Given the description of an element on the screen output the (x, y) to click on. 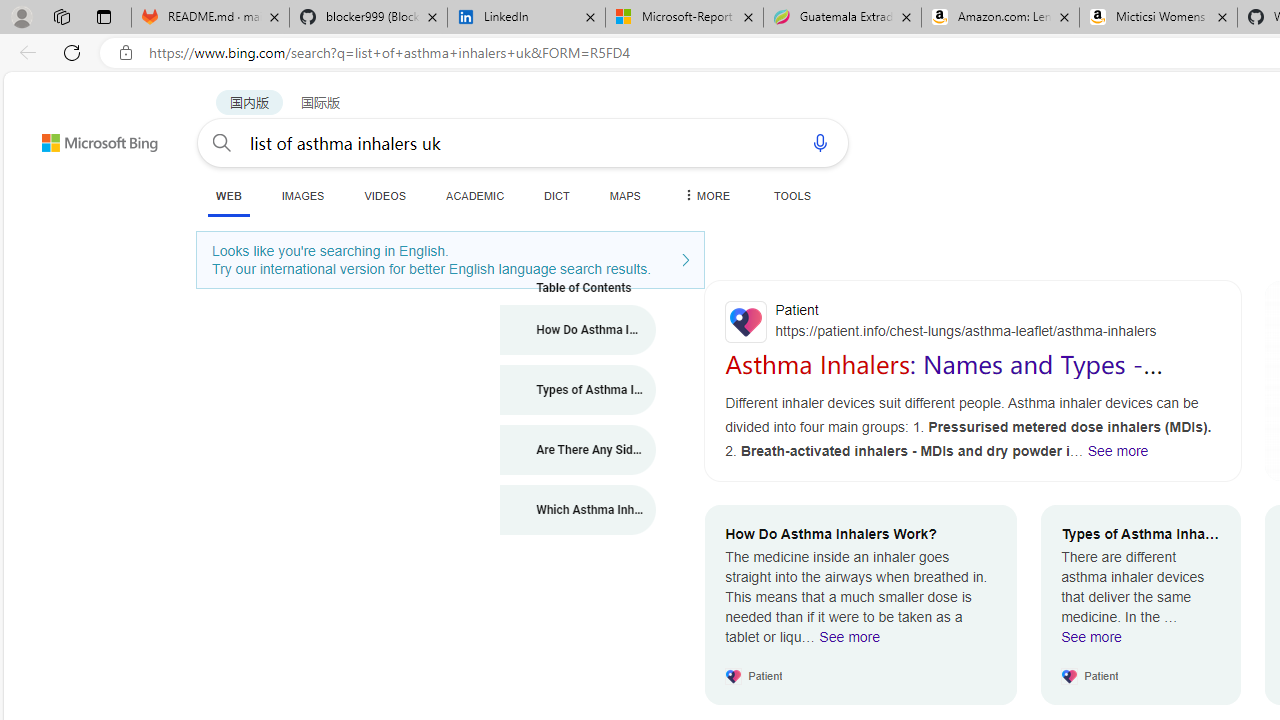
Are There Any Side-Effects from Asthma Inhalers? (578, 449)
DICT (557, 195)
How Do Asthma Inhalers Work? (578, 329)
WEB (228, 196)
Dropdown Menu (705, 195)
IMAGES (302, 195)
MAPS (624, 195)
Which Asthma Inhaler Device Should I use? (578, 509)
MORE (705, 195)
Search using voice (820, 142)
VIDEOS (384, 195)
